Given the description of an element on the screen output the (x, y) to click on. 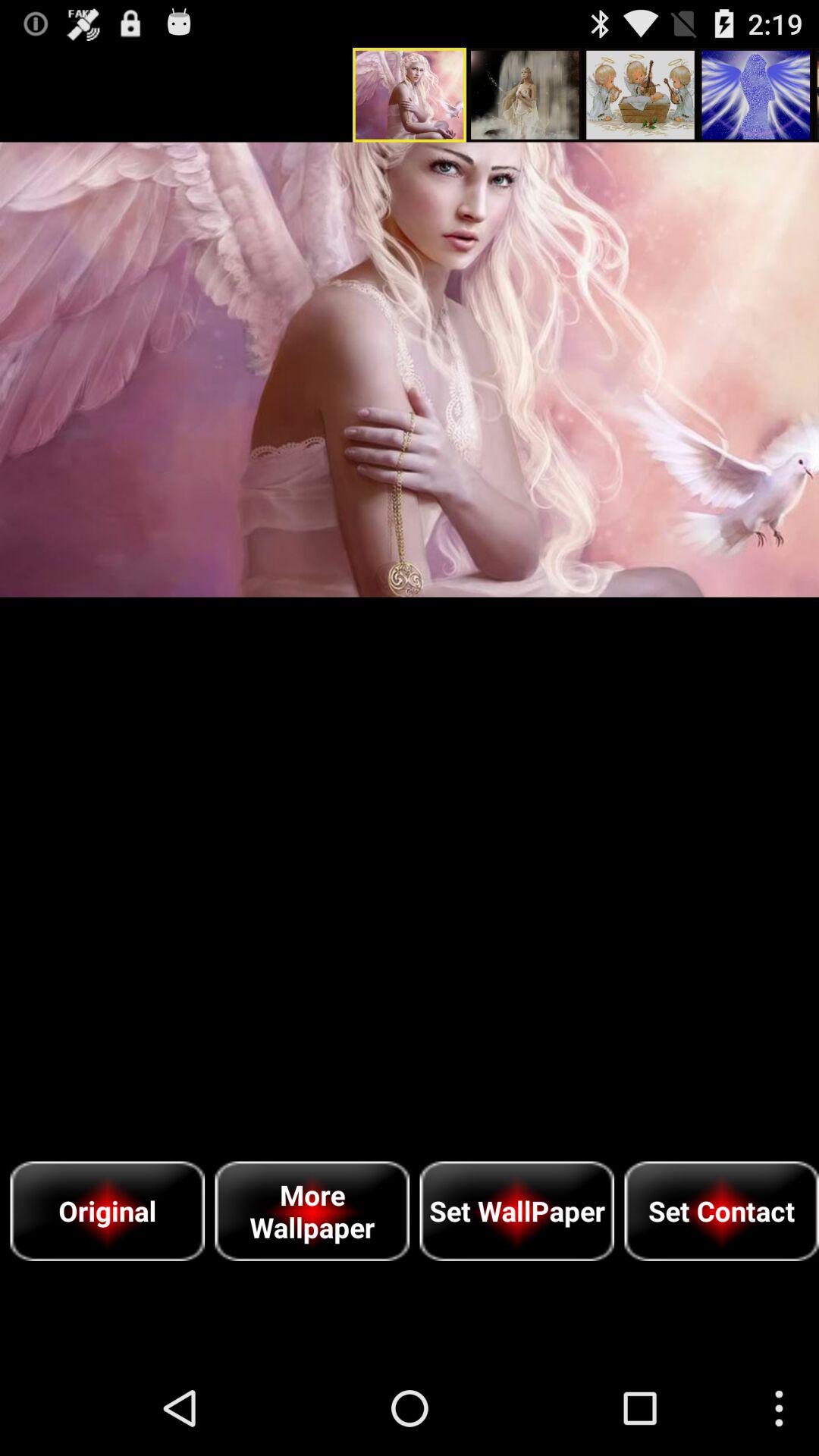
press the set wallpaper icon (516, 1210)
